Given the description of an element on the screen output the (x, y) to click on. 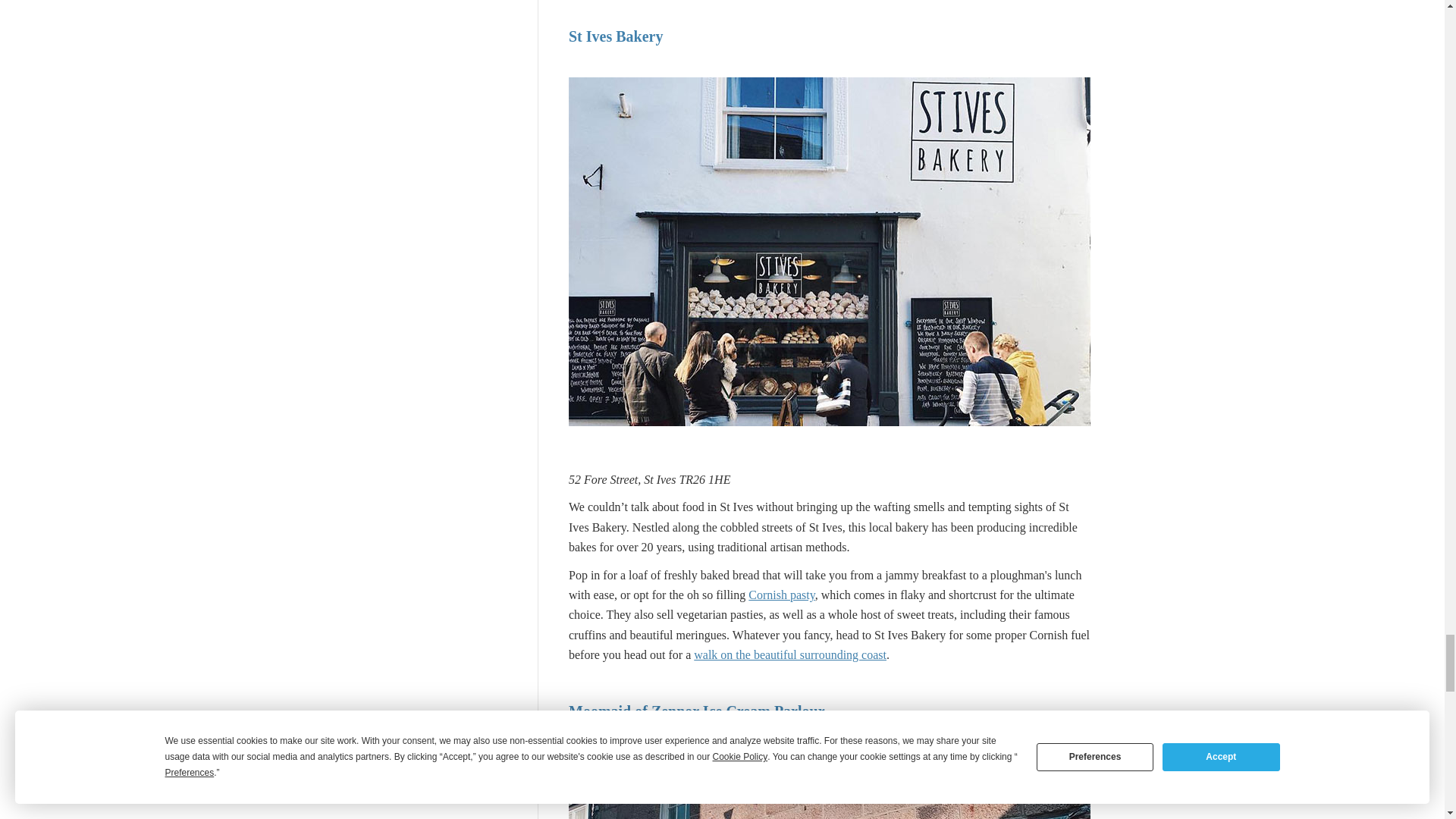
Image by Moomaid of Zennor (829, 785)
